Given the description of an element on the screen output the (x, y) to click on. 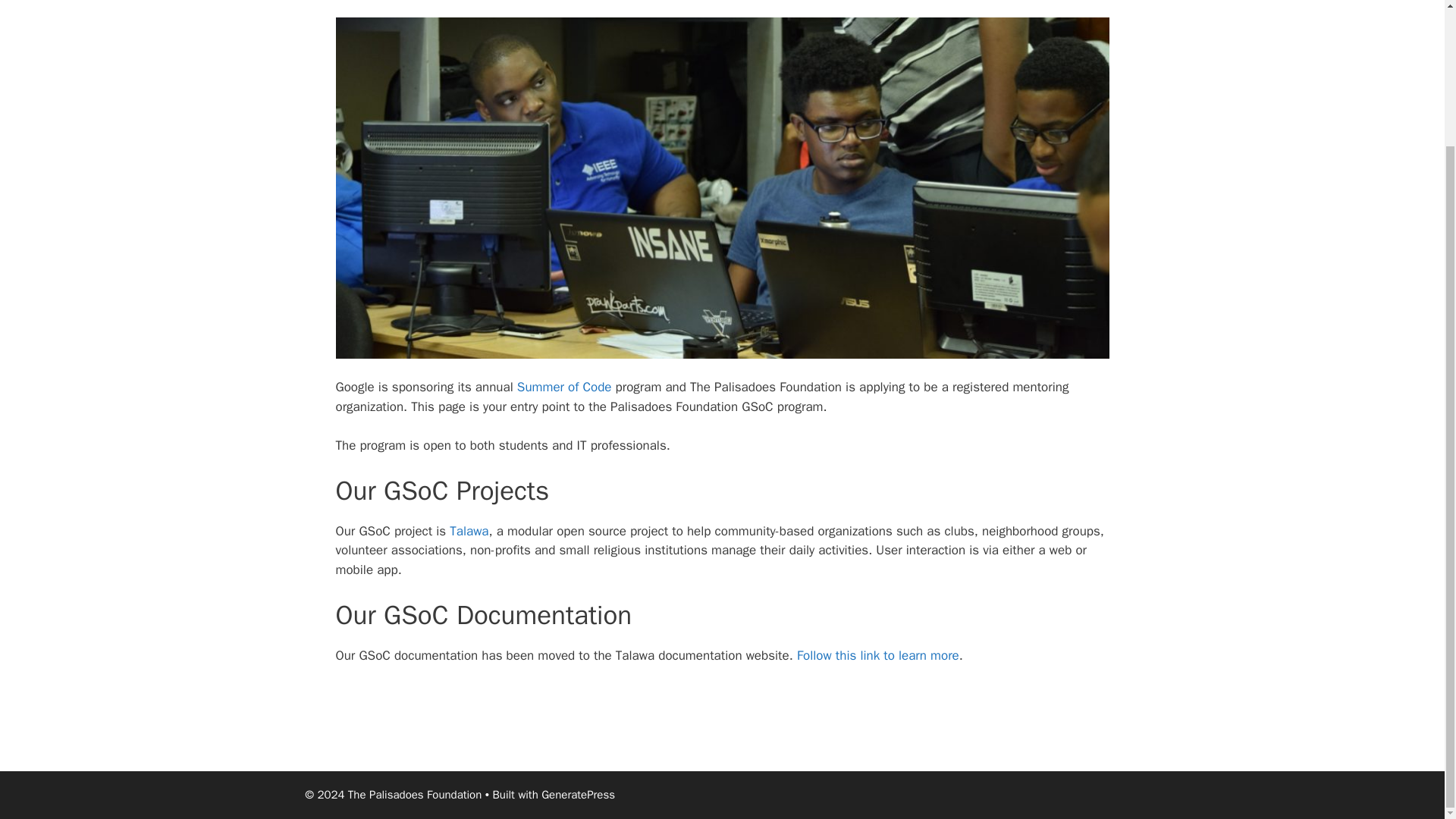
Talawa (468, 530)
GeneratePress (577, 794)
Follow this link to learn more (877, 655)
Summer of Code (563, 386)
